Given the description of an element on the screen output the (x, y) to click on. 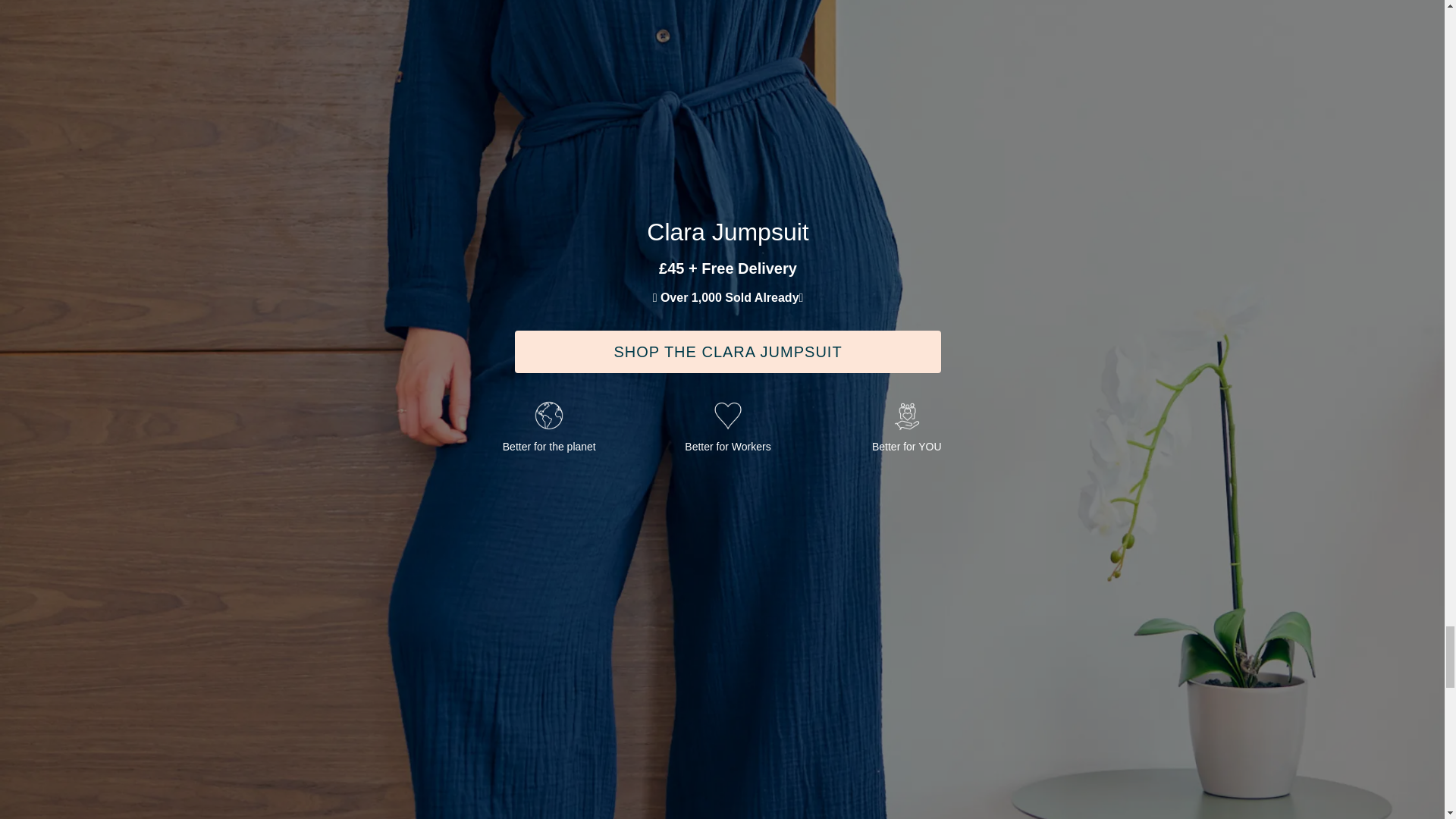
SHOP THE CLARA JUMPSUIT (727, 351)
